Given the description of an element on the screen output the (x, y) to click on. 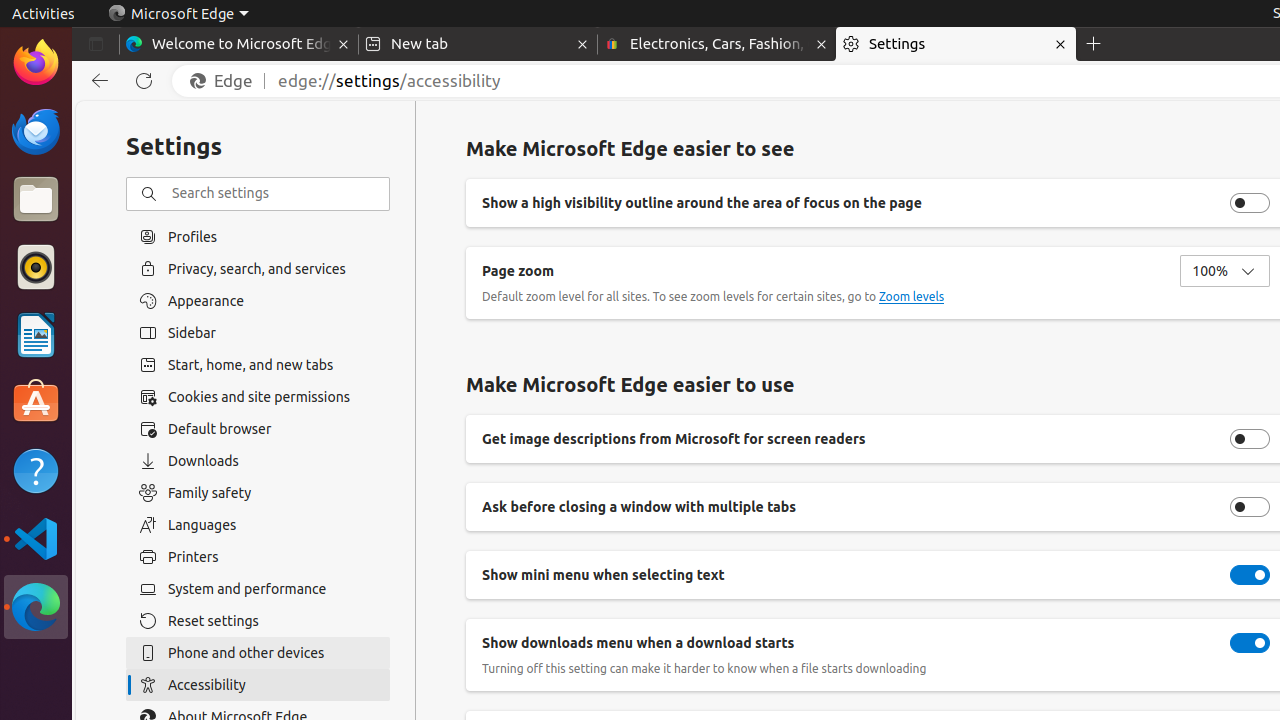
Settings Element type: page-tab (956, 44)
Downloads Element type: tree-item (258, 461)
Rhythmbox Element type: push-button (36, 267)
Ask before closing a window with multiple tabs Element type: check-box (1250, 507)
Privacy, search, and services Element type: tree-item (258, 268)
